Given the description of an element on the screen output the (x, y) to click on. 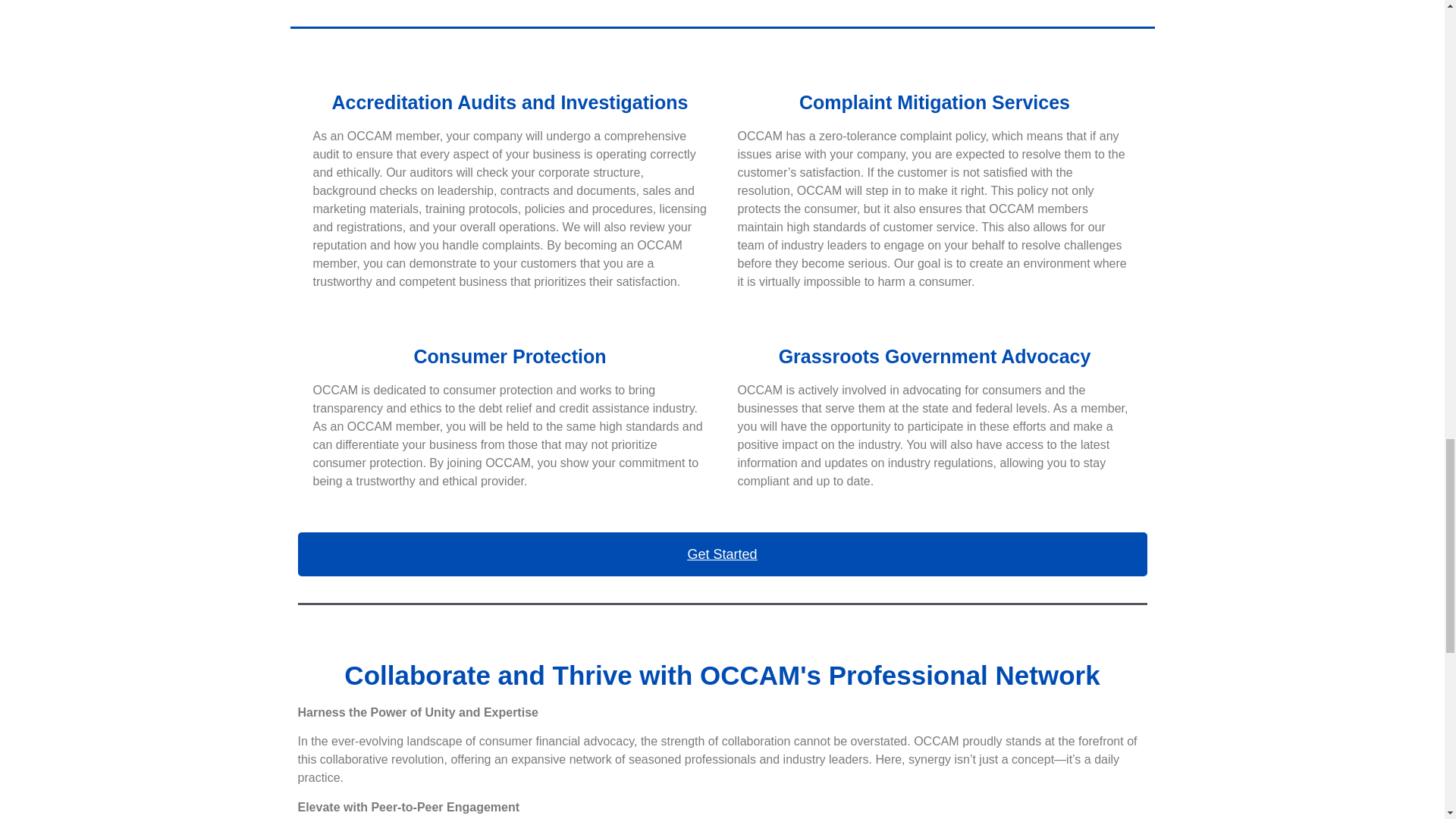
Get Started (722, 554)
